Given the description of an element on the screen output the (x, y) to click on. 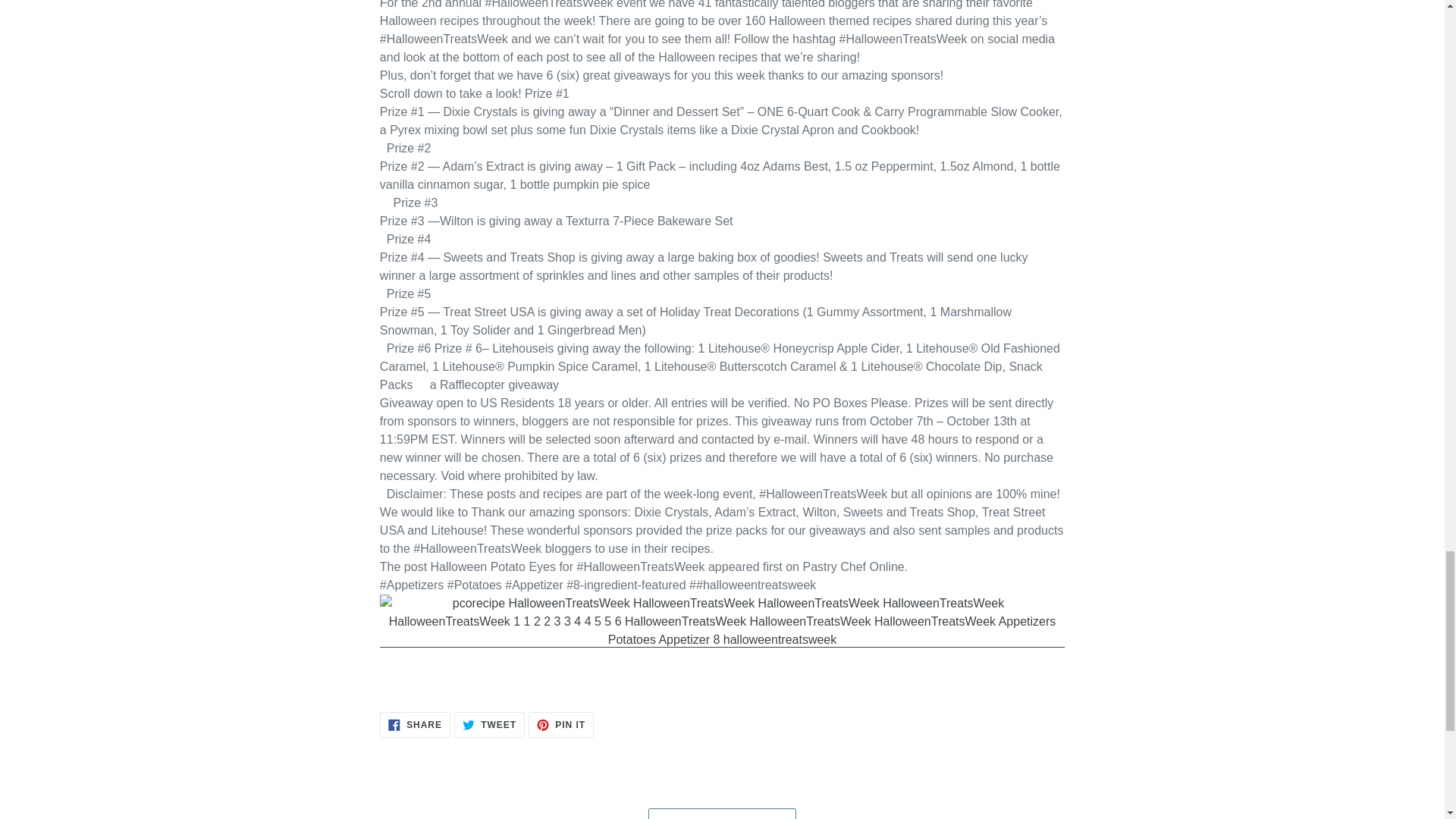
BACK TO NEWS (721, 813)
